Given the description of an element on the screen output the (x, y) to click on. 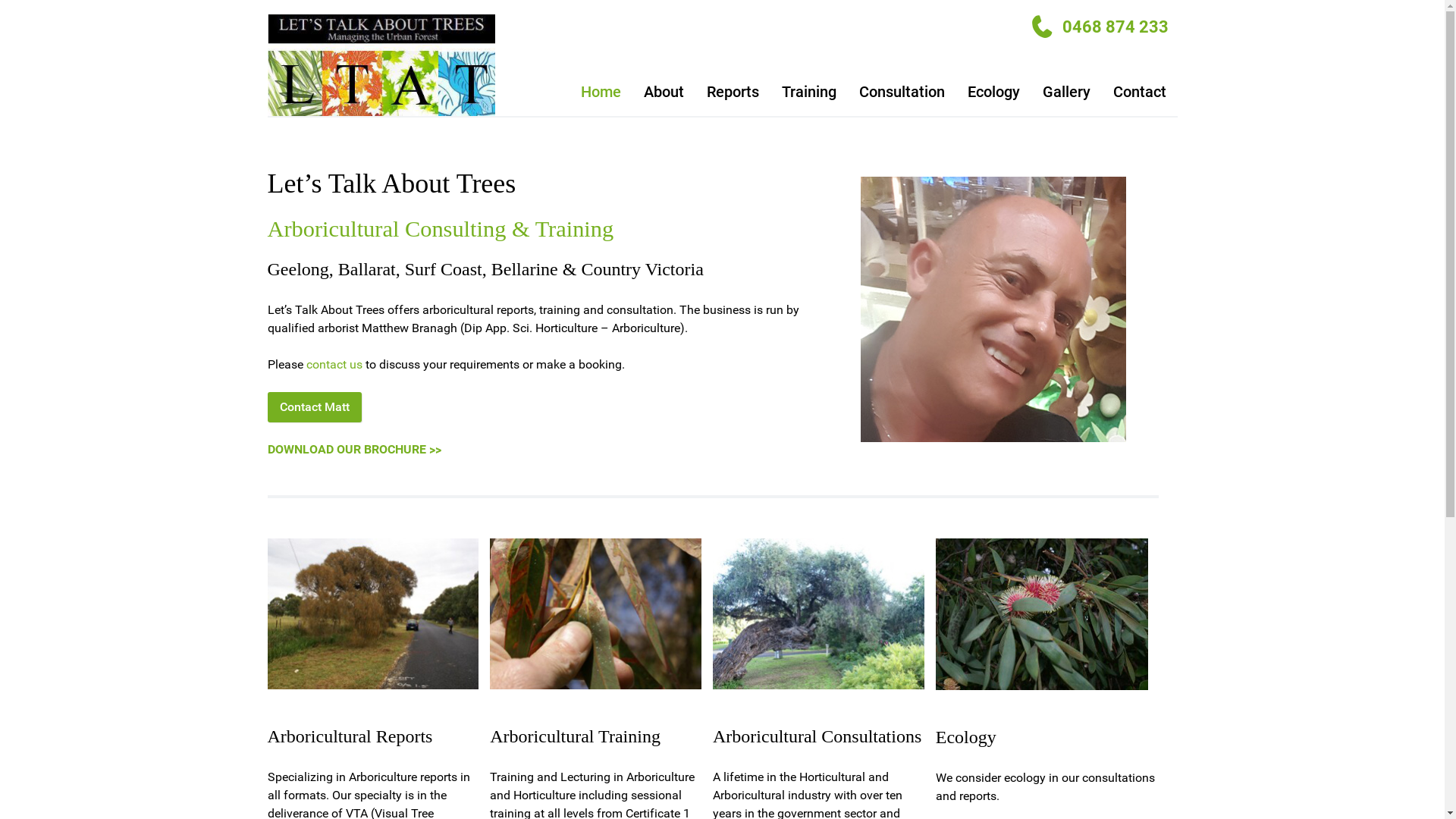
0468 874 233 Element type: text (1109, 26)
About Element type: text (663, 91)
Contact Matt Element type: text (313, 407)
Contact Element type: text (1138, 91)
DOWNLOAD OUR BROCHURE >> Element type: text (353, 449)
Training Element type: text (808, 91)
Reports Element type: text (731, 91)
Gallery Element type: text (1066, 91)
Ecology Element type: text (992, 91)
Home Element type: text (599, 91)
contact us Element type: text (334, 364)
Consultation Element type: text (901, 91)
